Given the description of an element on the screen output the (x, y) to click on. 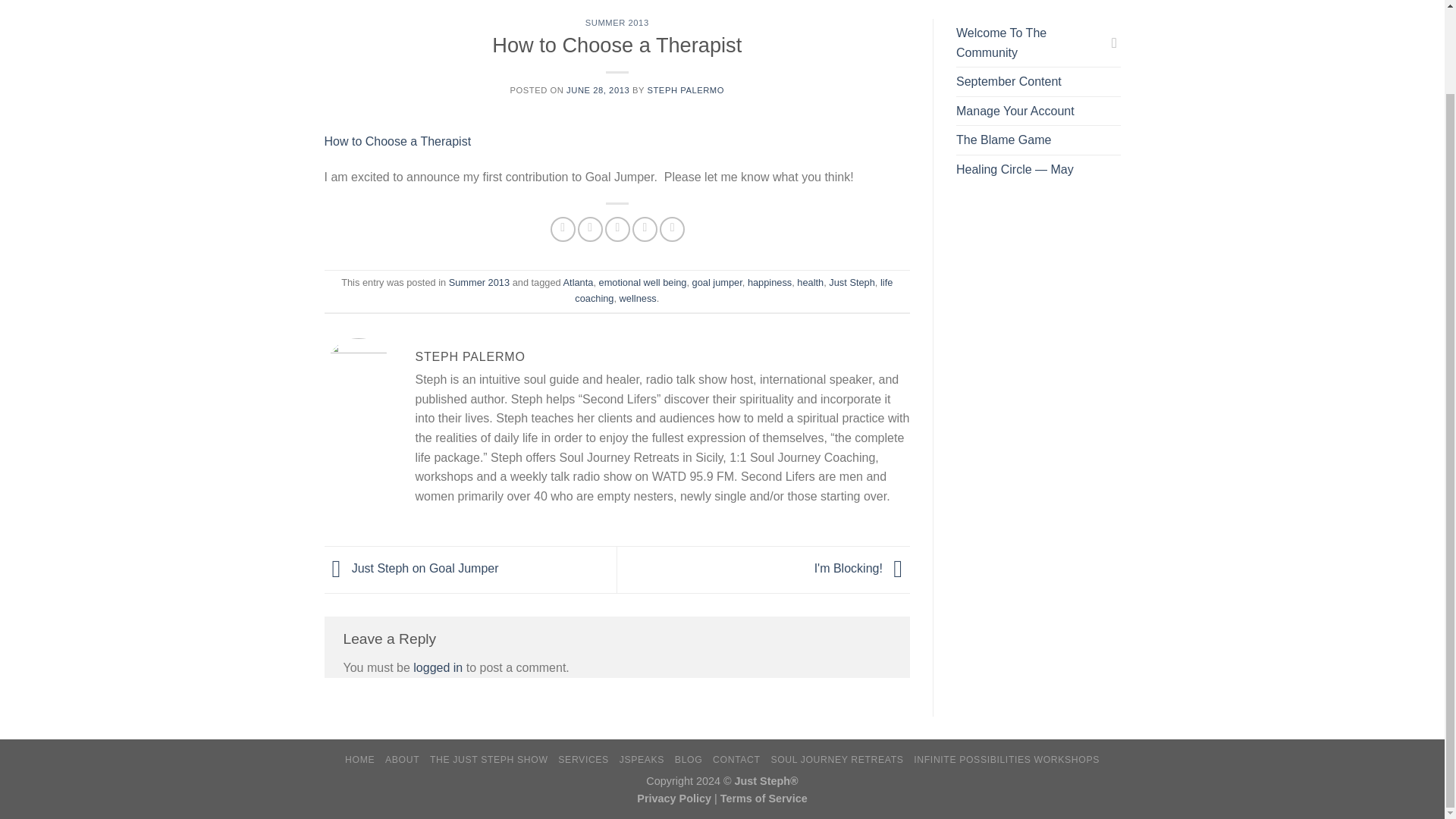
Pin on Pinterest (644, 229)
How to Choose a Therapist (397, 141)
Share on LinkedIn (671, 229)
Email to a Friend (617, 229)
Share on Twitter (590, 229)
Share on Facebook (562, 229)
STEPH PALERMO (684, 90)
How to Choose a Therapist (397, 141)
SUMMER 2013 (617, 22)
JUNE 28, 2013 (597, 90)
